Given the description of an element on the screen output the (x, y) to click on. 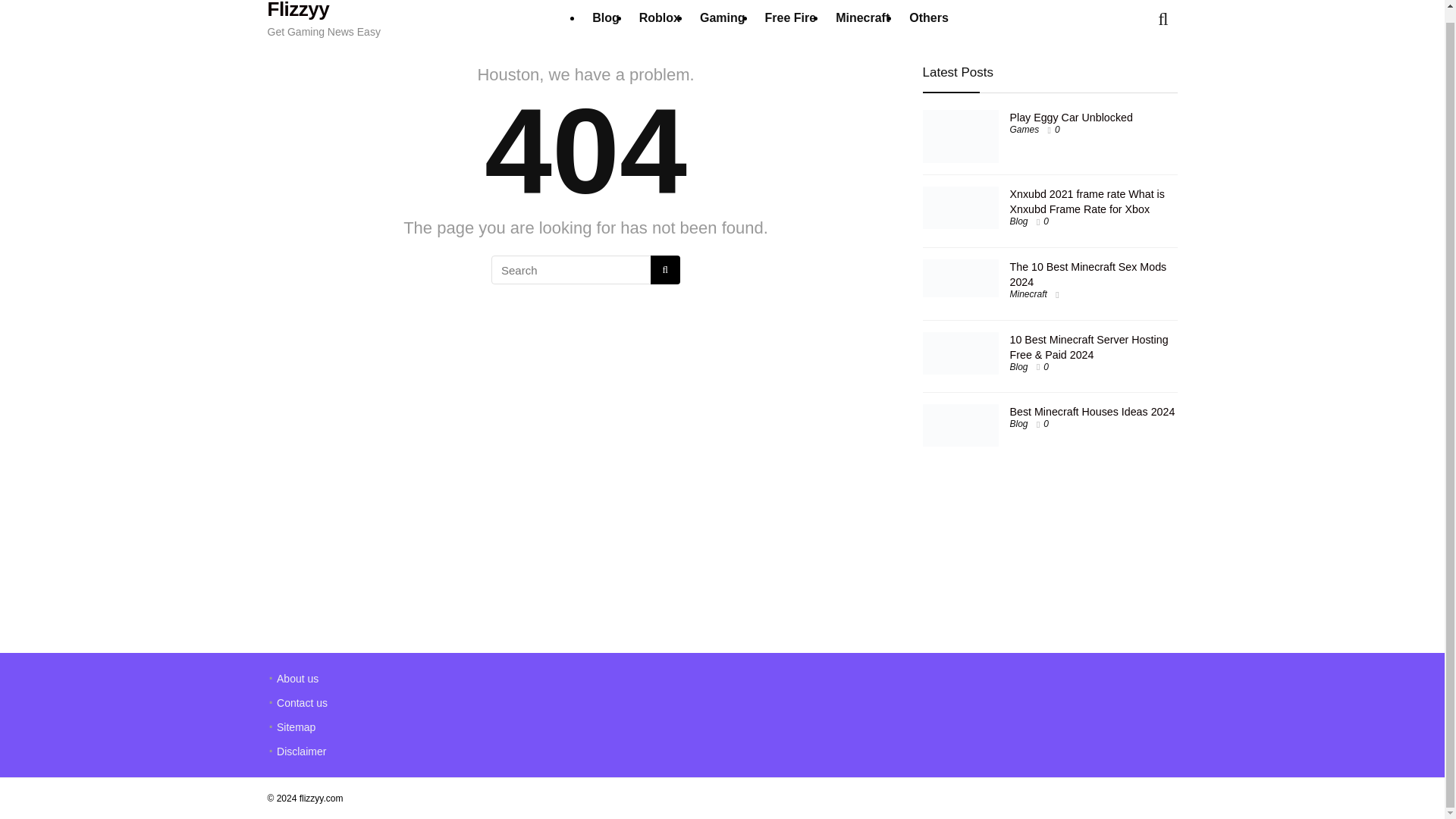
About us (297, 678)
Roblox (659, 18)
Best Minecraft Houses Ideas 2024 (1092, 411)
The 10 Best Minecraft Sex Mods 2024 (1088, 274)
Blog (1018, 423)
Sitemap (295, 727)
Minecraft (862, 18)
Play Eggy Car Unblocked (1071, 117)
Free Fire (791, 18)
Games (1024, 129)
